Given the description of an element on the screen output the (x, y) to click on. 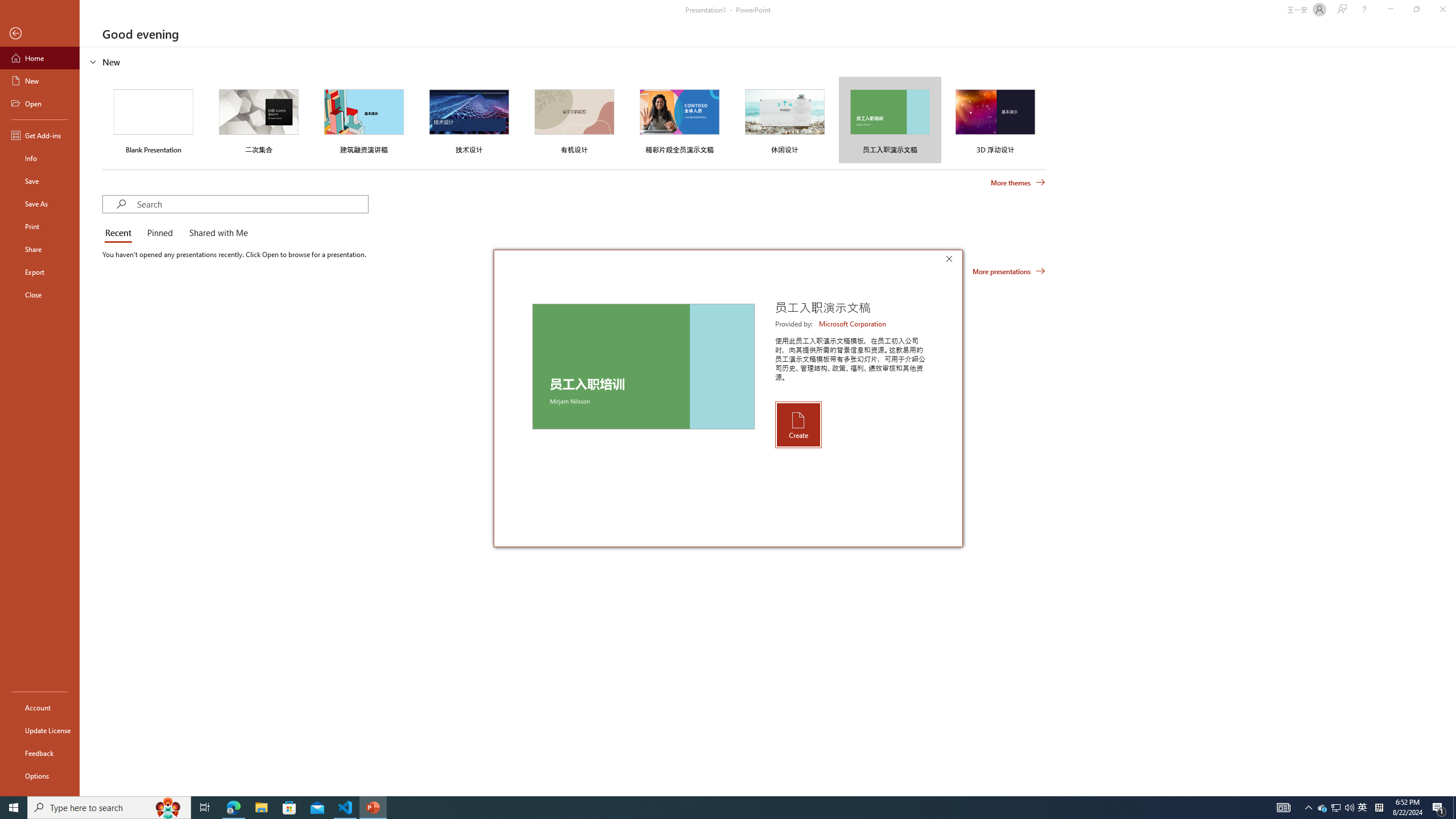
More themes (1018, 182)
More presentations (1008, 270)
Print (40, 225)
Pinned (159, 233)
